Given the description of an element on the screen output the (x, y) to click on. 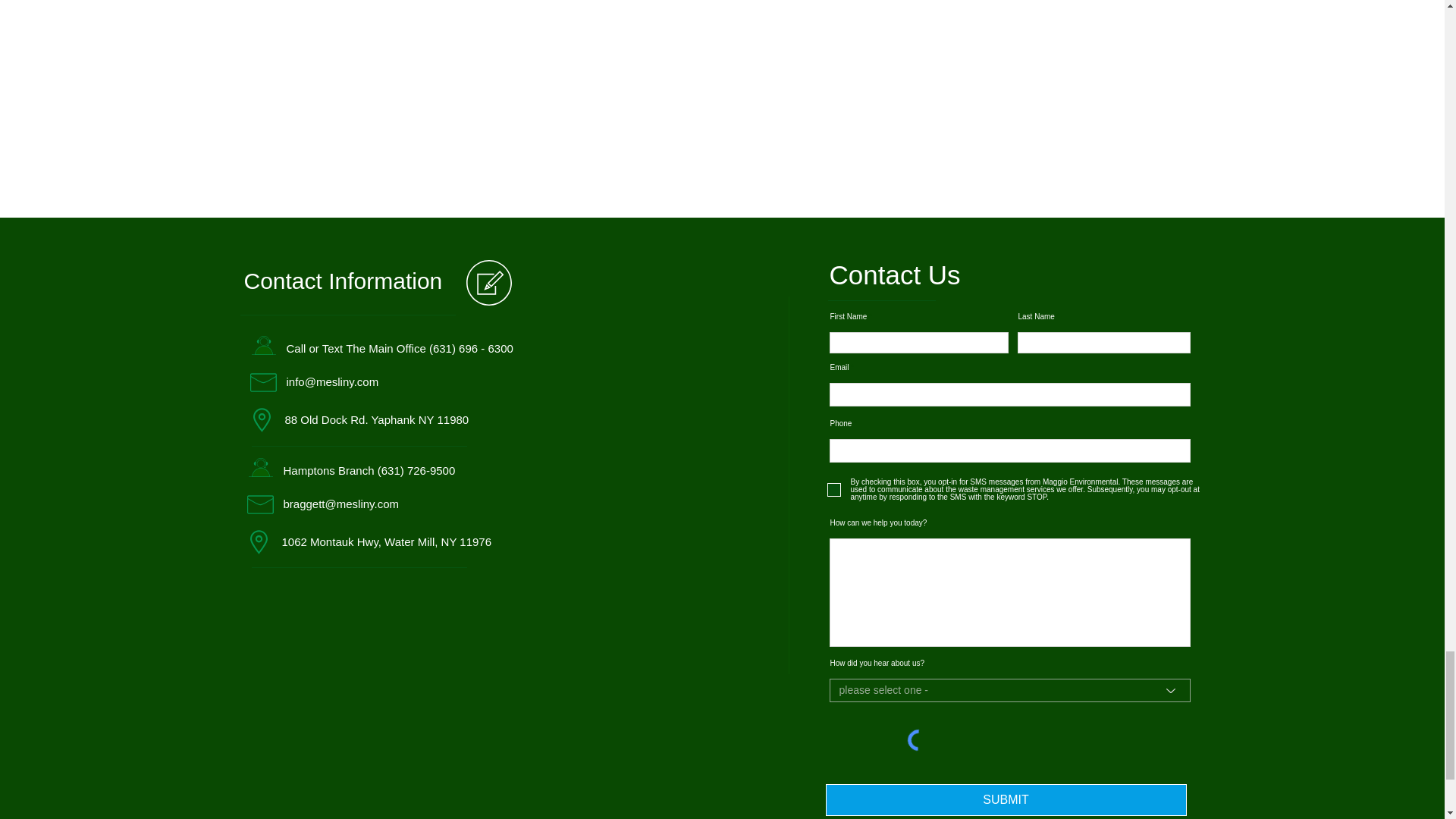
88 Old Dock Rd. Yaphank NY 11980  (378, 419)
